Given the description of an element on the screen output the (x, y) to click on. 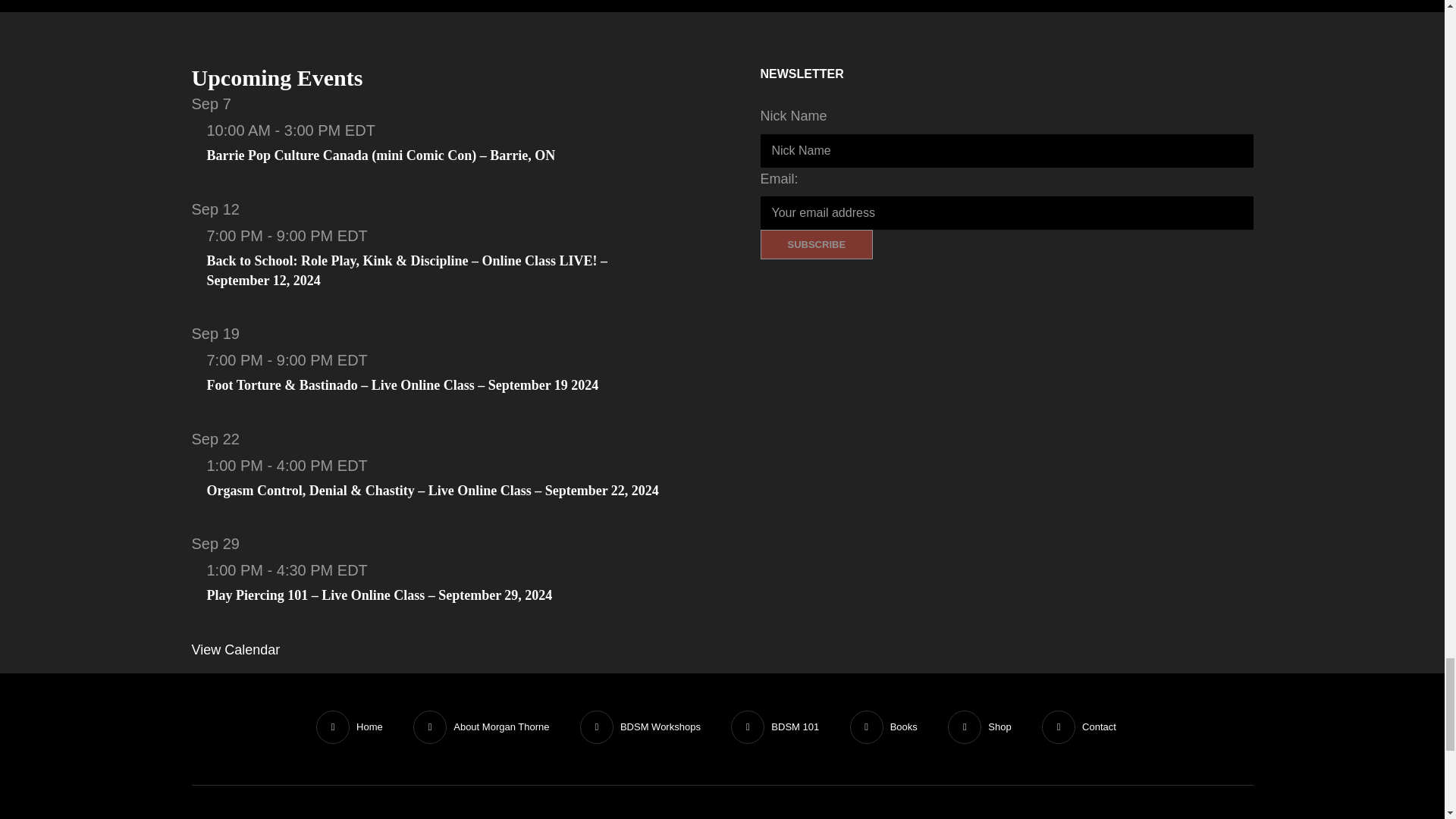
Nick Name (1006, 150)
View more events. (234, 649)
Subscribe (816, 244)
